Given the description of an element on the screen output the (x, y) to click on. 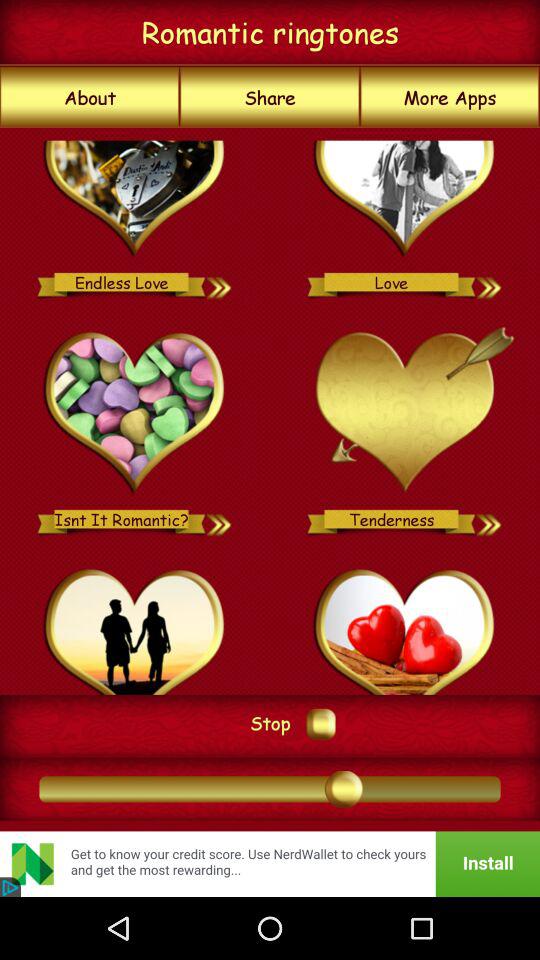
open banner advertisement (270, 864)
